Given the description of an element on the screen output the (x, y) to click on. 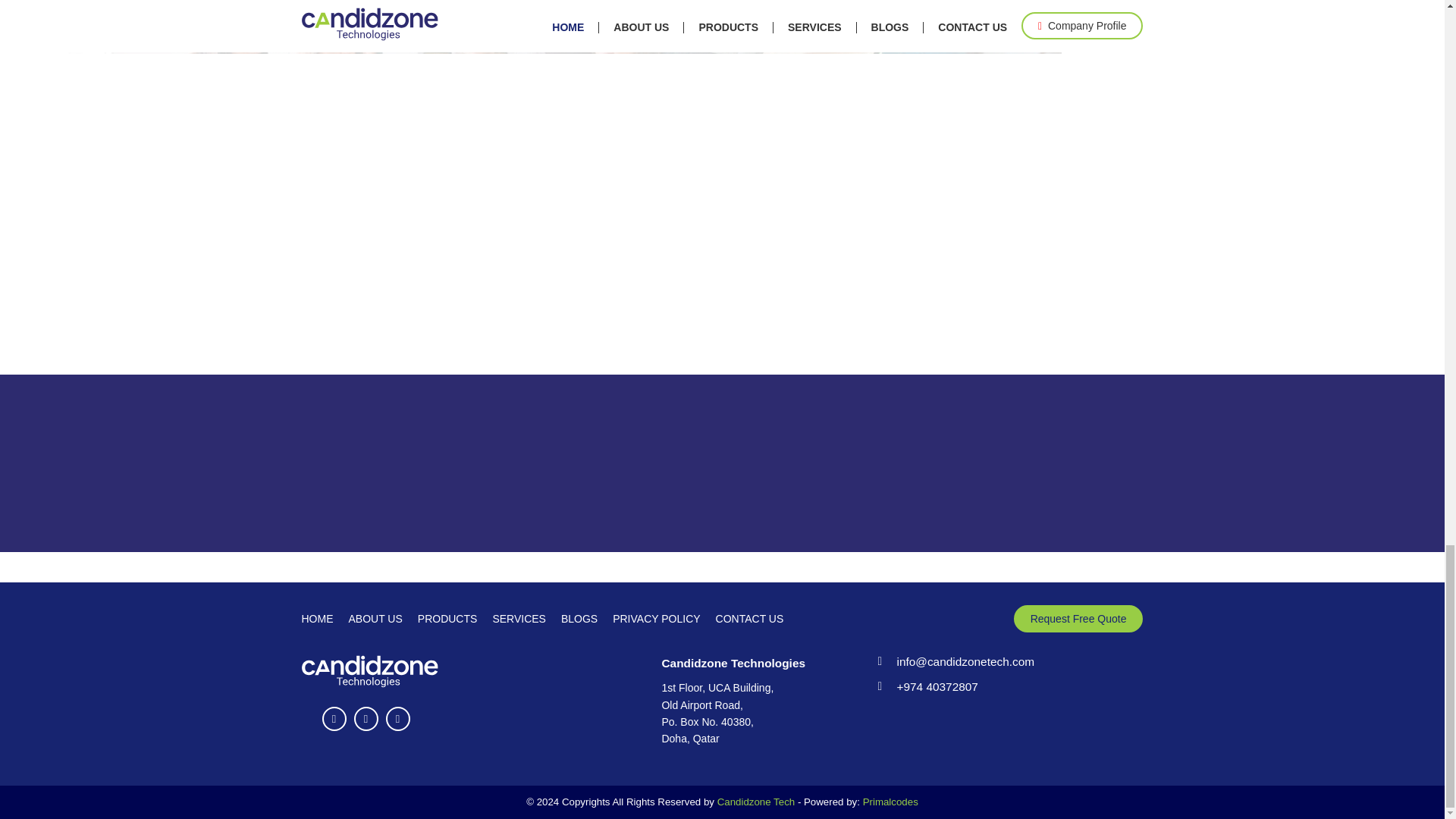
Request Free Quote (1077, 618)
Primalcodes (890, 801)
BLOGS (578, 618)
SERVICES (519, 618)
HOME (317, 618)
ABOUT US (376, 618)
PRIVACY POLICY (656, 618)
PRODUCTS (447, 618)
Candidzone Tech (755, 801)
CONTACT US (750, 618)
